Given the description of an element on the screen output the (x, y) to click on. 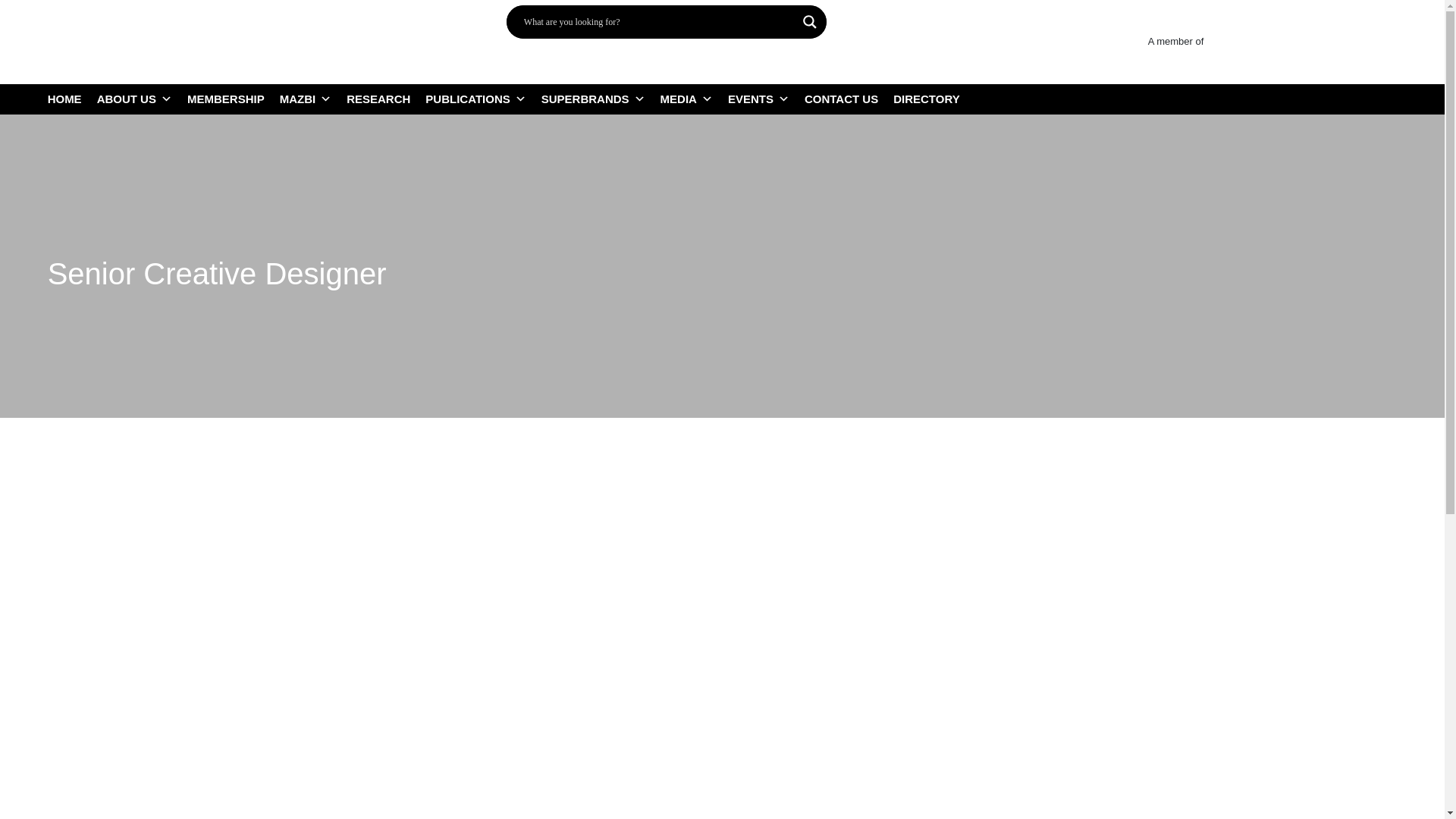
ABOUT US (142, 99)
RESEARCH (385, 99)
MEDIA (694, 99)
MAZBI (313, 99)
MEMBERSHIP (233, 99)
HOME (72, 99)
PUBLICATIONS (482, 99)
SUPERBRANDS (601, 99)
